Given the description of an element on the screen output the (x, y) to click on. 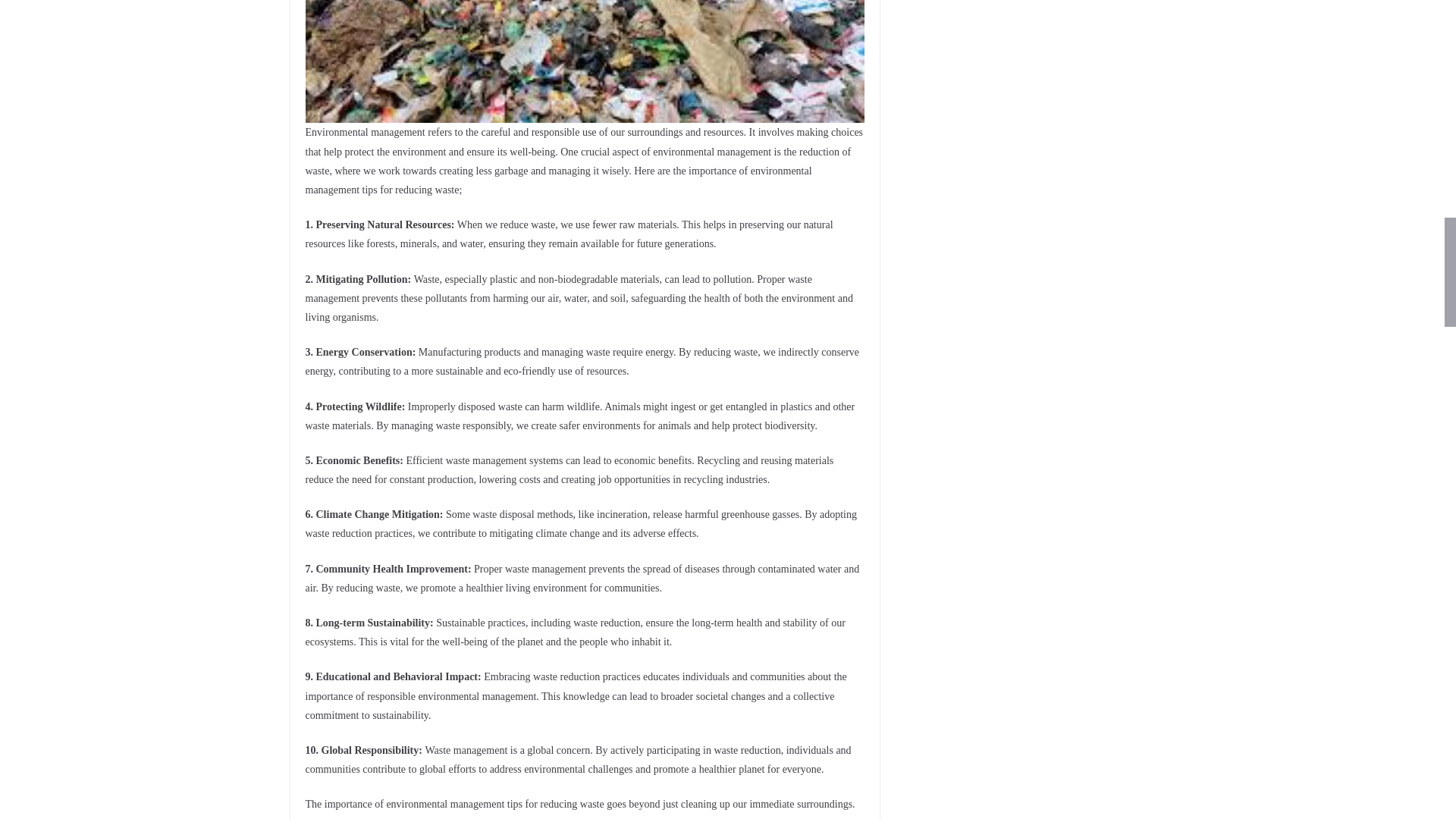
Guide on Environmental Management Tips for Reducing Waste 2 (583, 61)
